Given the description of an element on the screen output the (x, y) to click on. 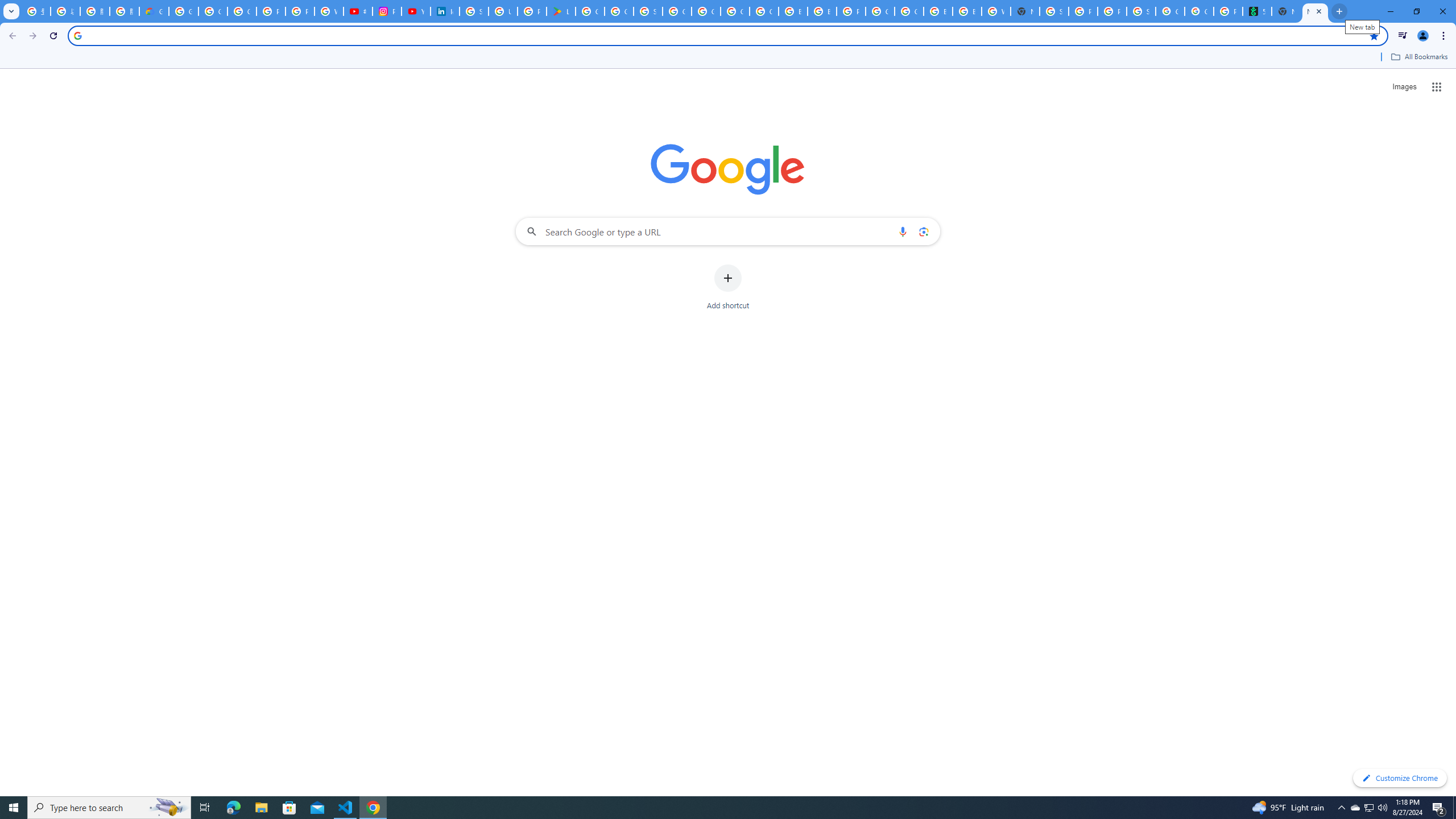
New Tab (1025, 11)
Google Cloud Platform (705, 11)
YouTube Culture & Trends - On The Rise: Handcam Videos (415, 11)
